Given the description of an element on the screen output the (x, y) to click on. 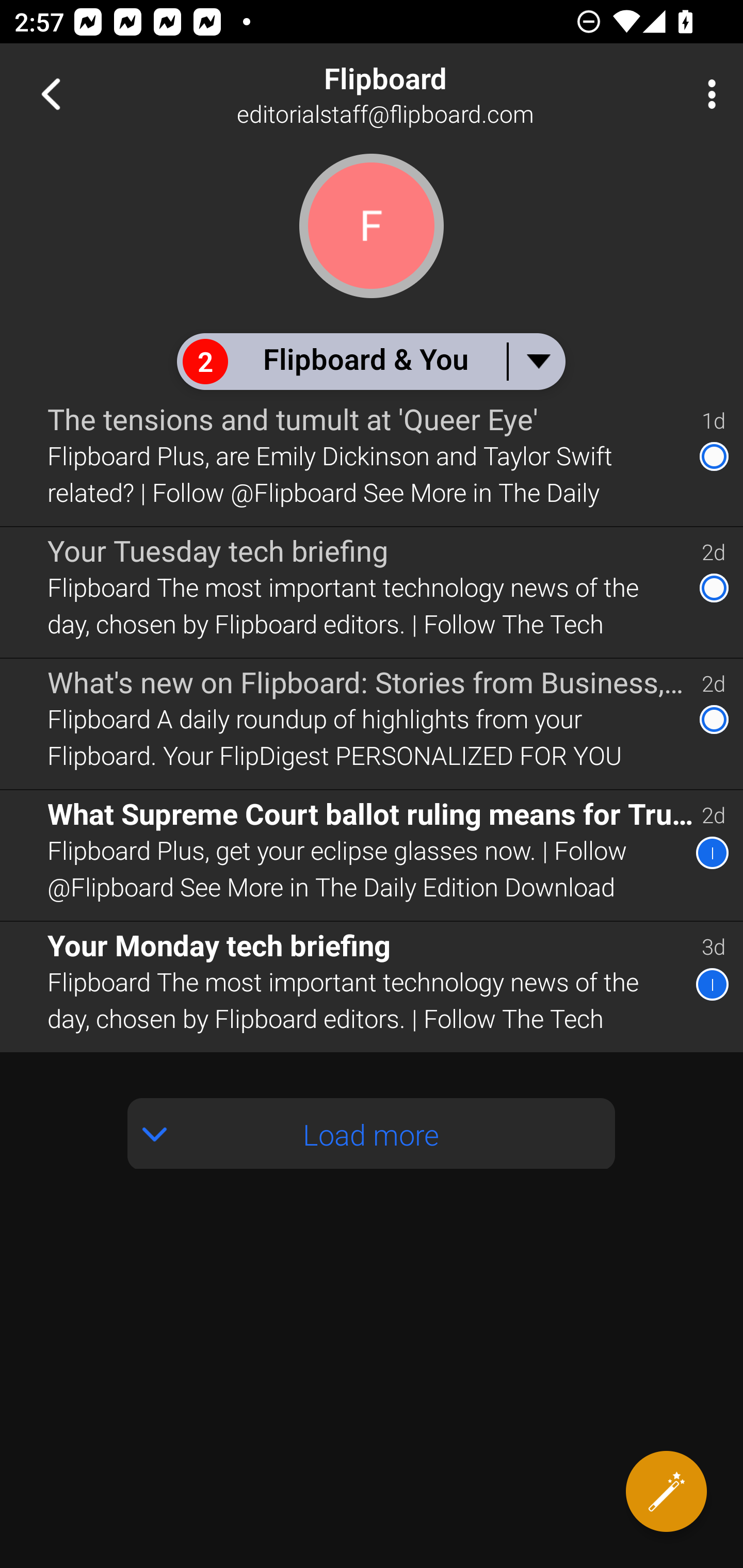
Navigate up (50, 93)
Flipboard editorialstaff@flipboard.com (436, 93)
More Options (706, 93)
2 Flipboard & You (370, 361)
Load more (371, 1132)
